Given the description of an element on the screen output the (x, y) to click on. 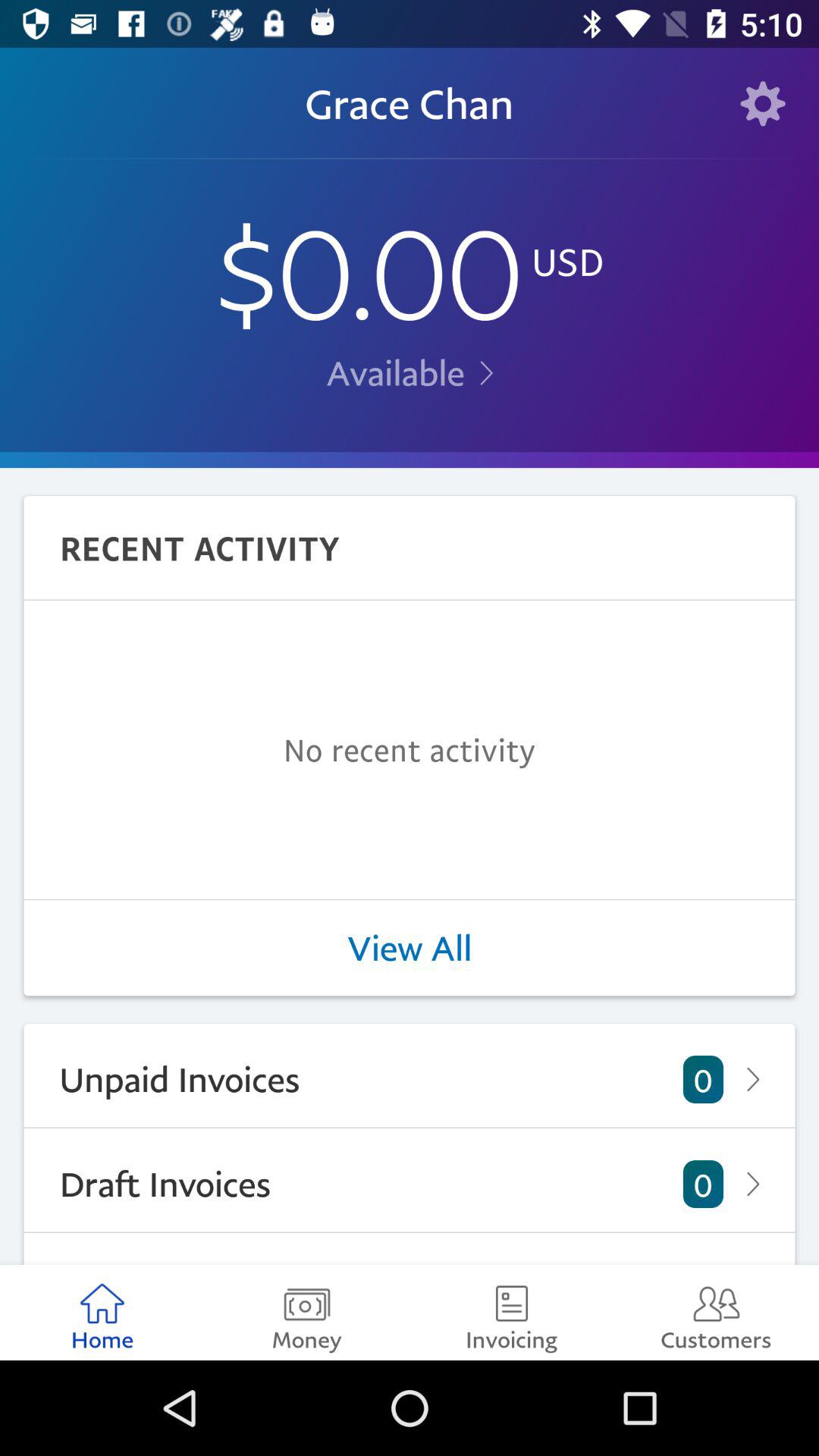
tap create new invoice (409, 1248)
